Given the description of an element on the screen output the (x, y) to click on. 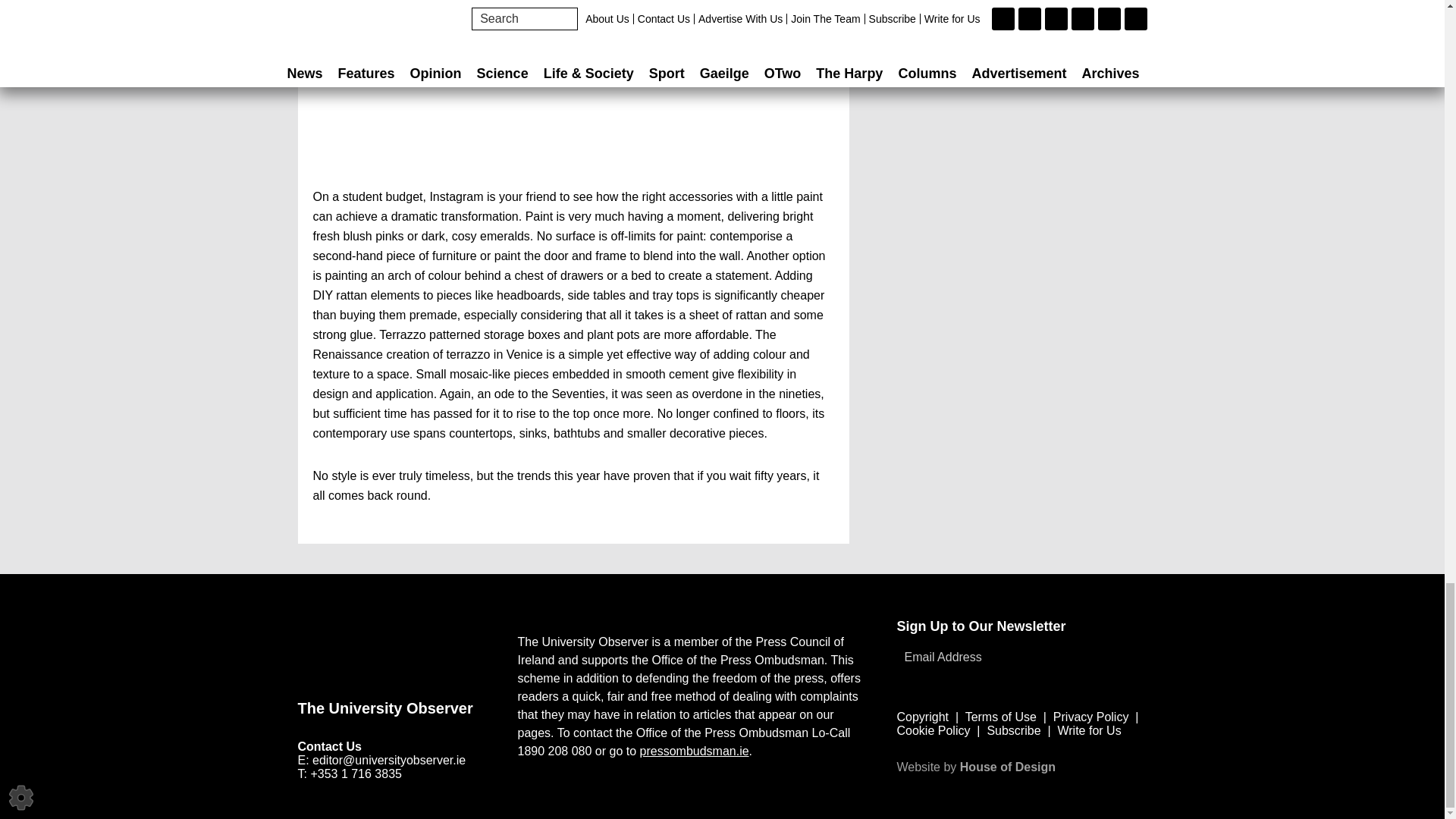
Advertisement (572, 93)
